Given the description of an element on the screen output the (x, y) to click on. 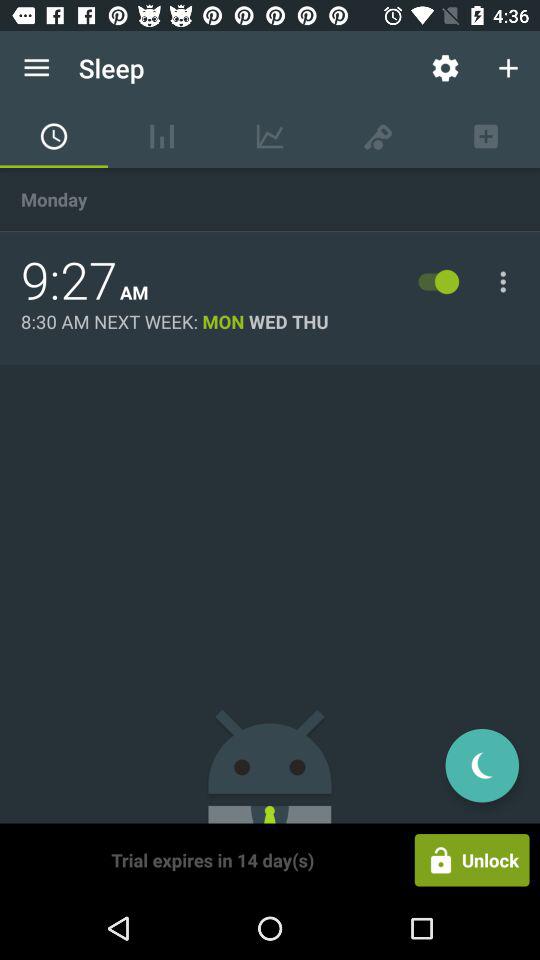
launch icon to the left of am (69, 281)
